Given the description of an element on the screen output the (x, y) to click on. 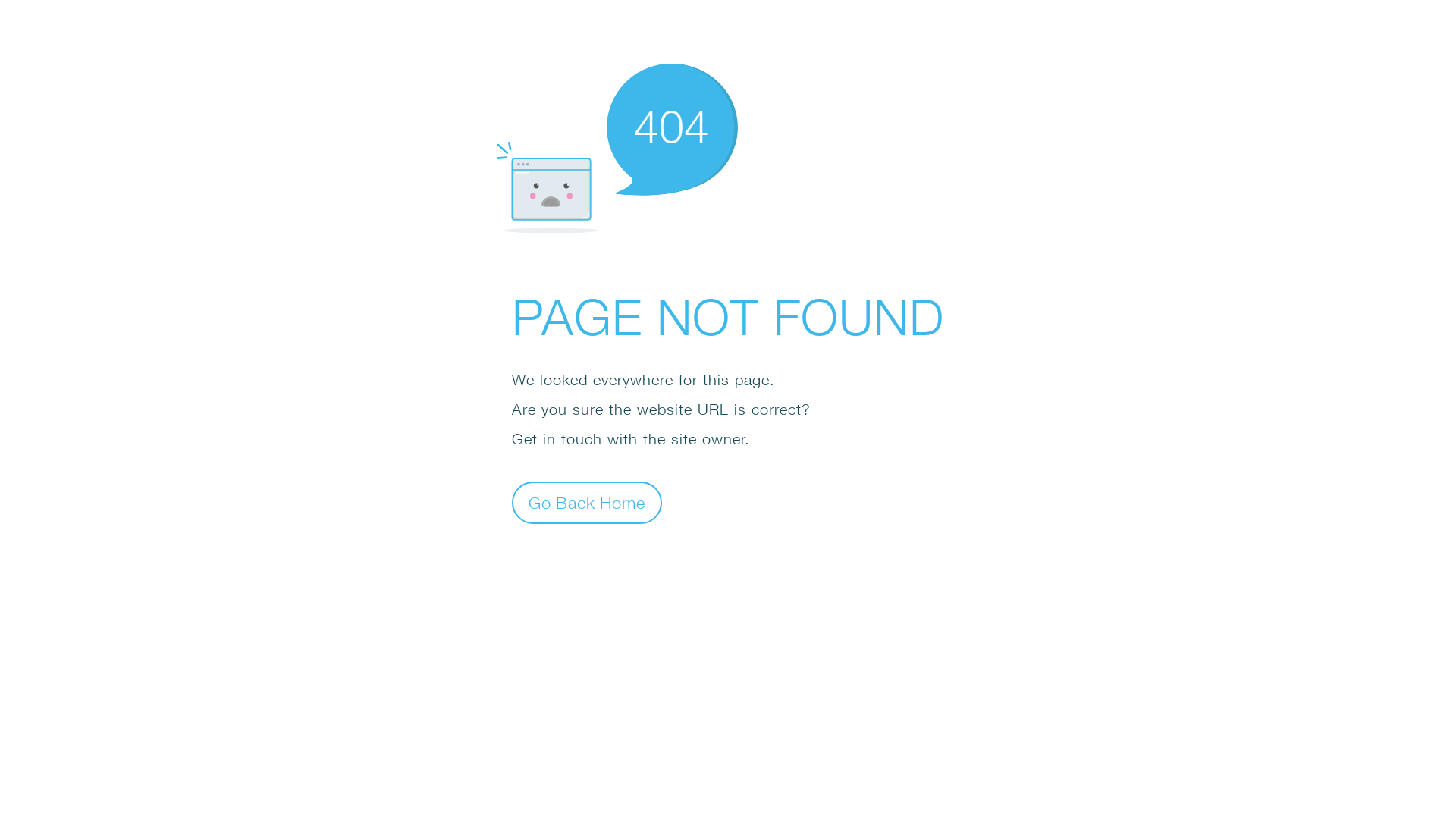
Go Back Home Element type: text (586, 502)
